Given the description of an element on the screen output the (x, y) to click on. 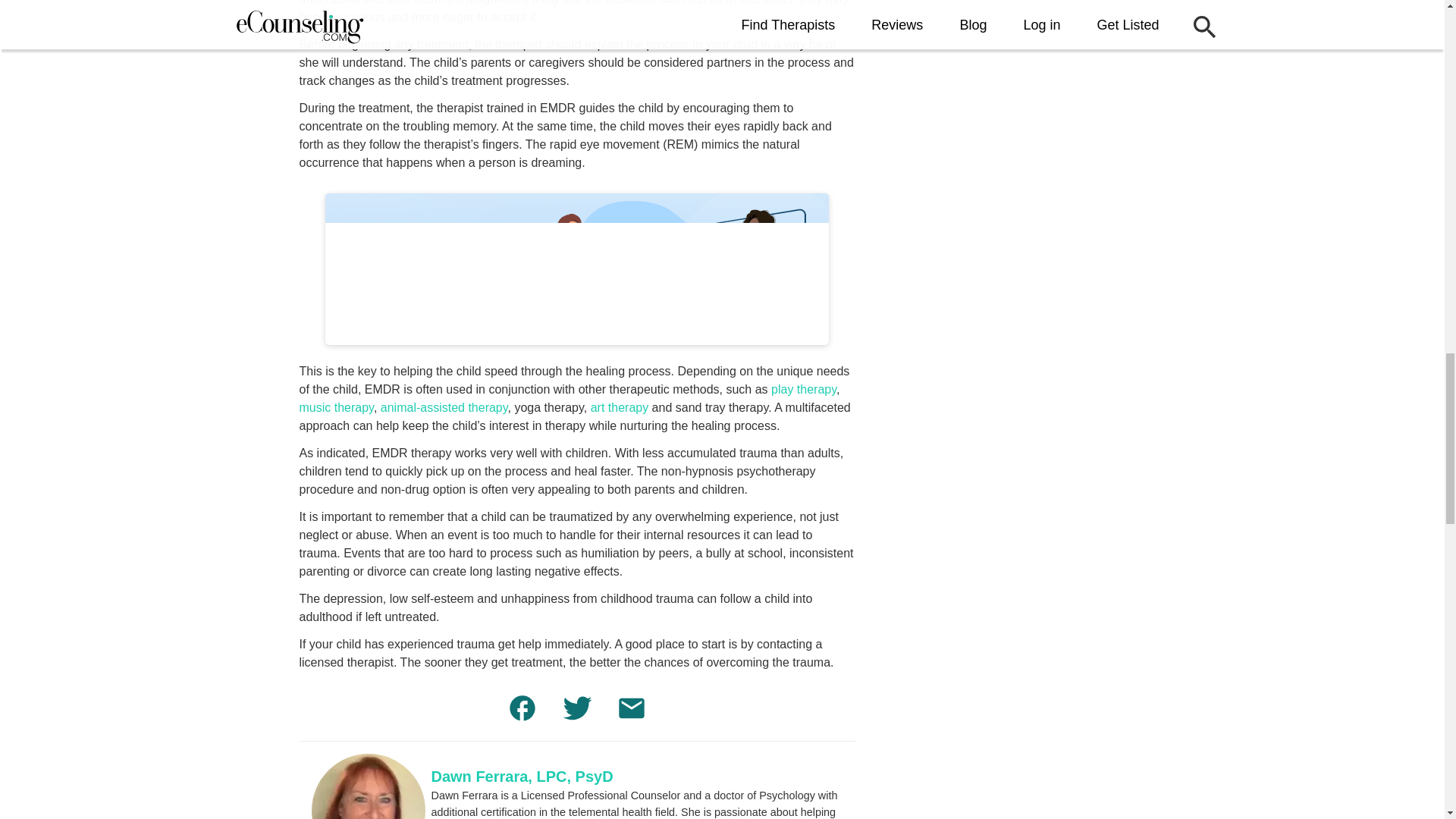
play therapy (803, 389)
Share this article on Twitter (577, 710)
art therapy (619, 407)
Posts by Dawn Ferrara, LPC, PsyD (521, 776)
music therapy (335, 407)
animal-assisted therapy (444, 407)
